Given the description of an element on the screen output the (x, y) to click on. 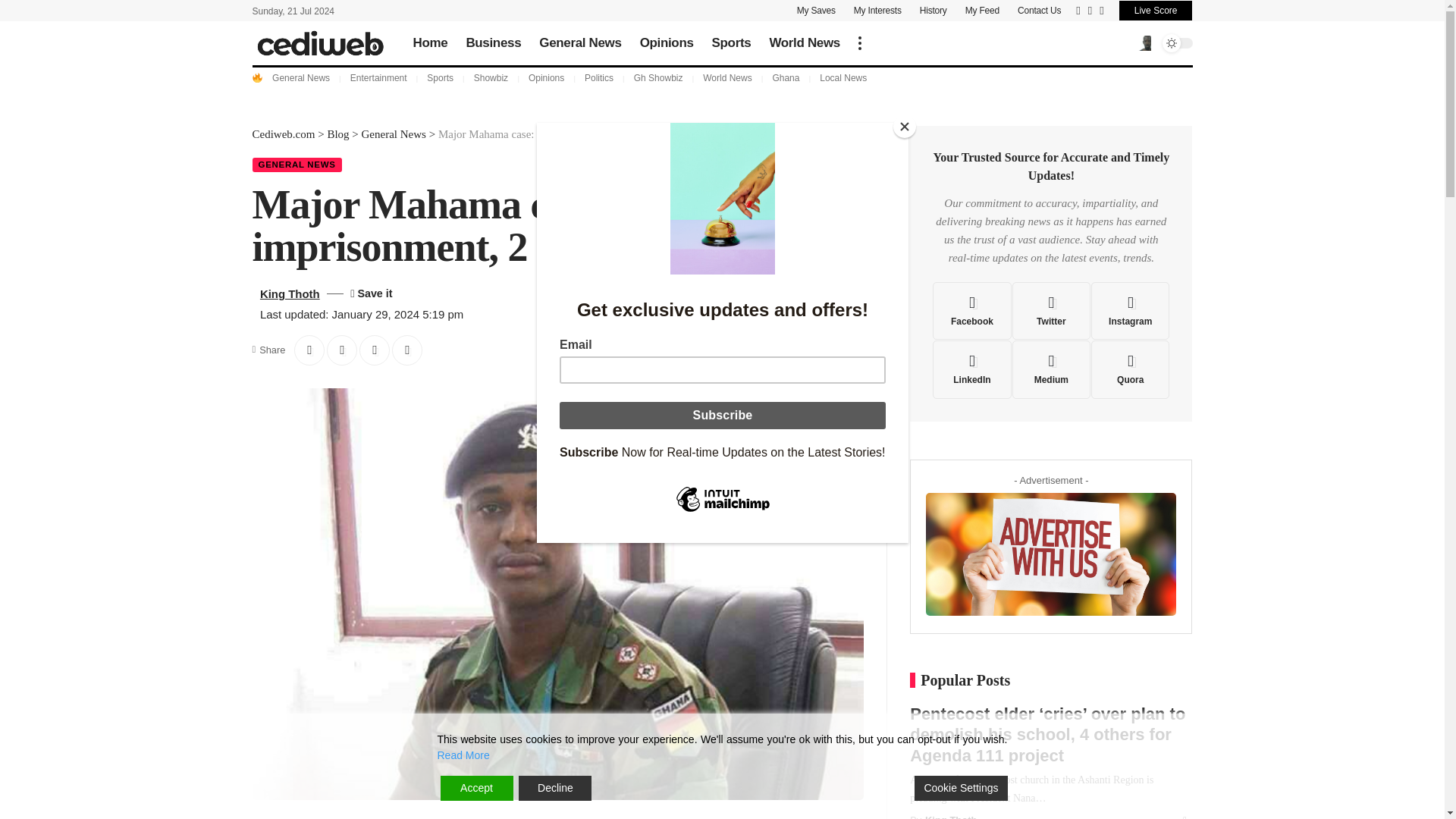
Showbiz (491, 78)
Contact Us (1039, 10)
Go to Blog. (337, 133)
Opinions (546, 78)
History (933, 10)
My Interests (877, 10)
Business (493, 42)
World News (804, 42)
Opinions (666, 42)
Ghana (785, 78)
Live Score (1155, 10)
Local News (842, 78)
Home (430, 42)
Sports (731, 42)
